Given the description of an element on the screen output the (x, y) to click on. 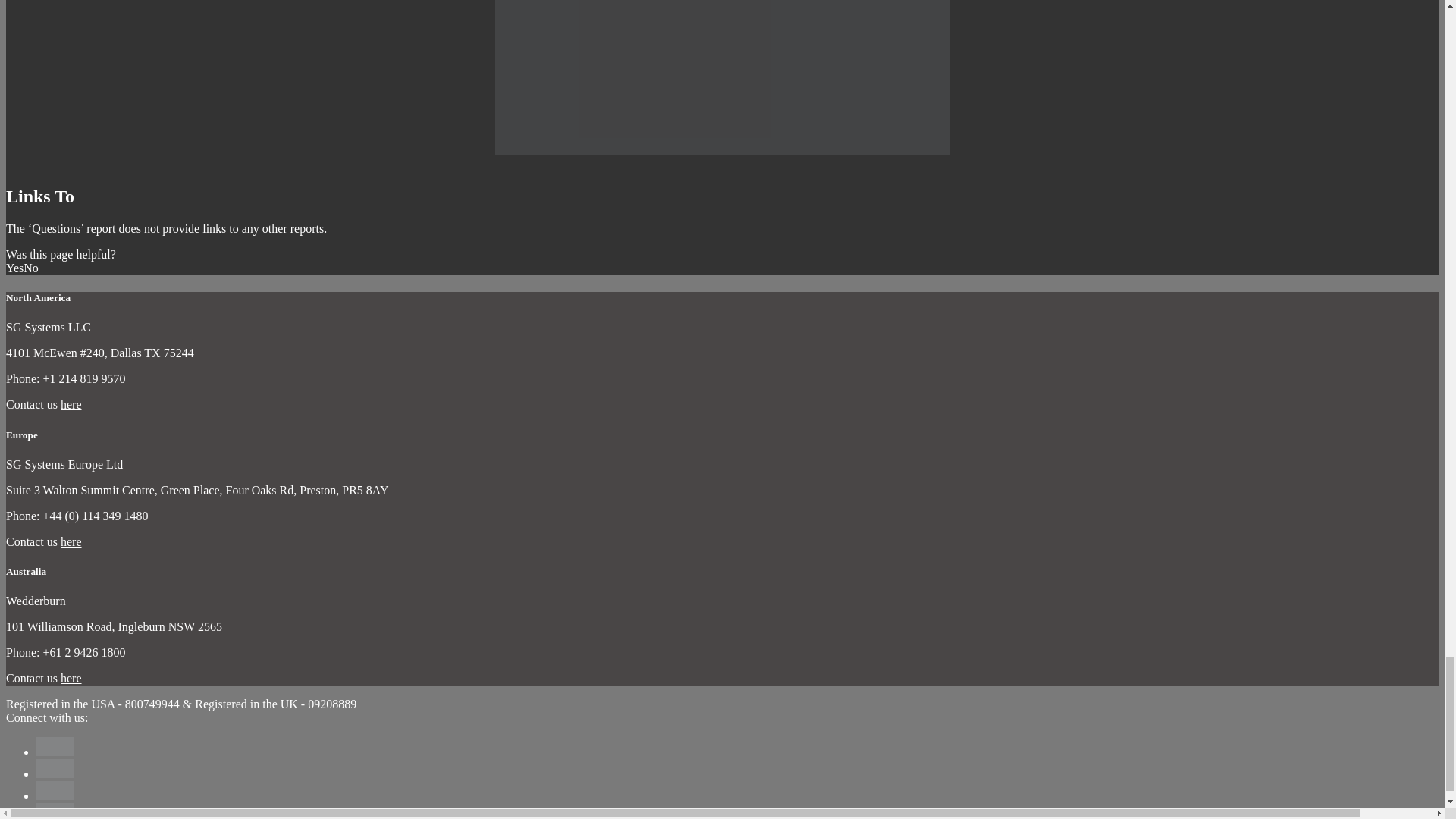
Twitter (64, 768)
Facebook (64, 746)
LinkedIn (64, 790)
